Given the description of an element on the screen output the (x, y) to click on. 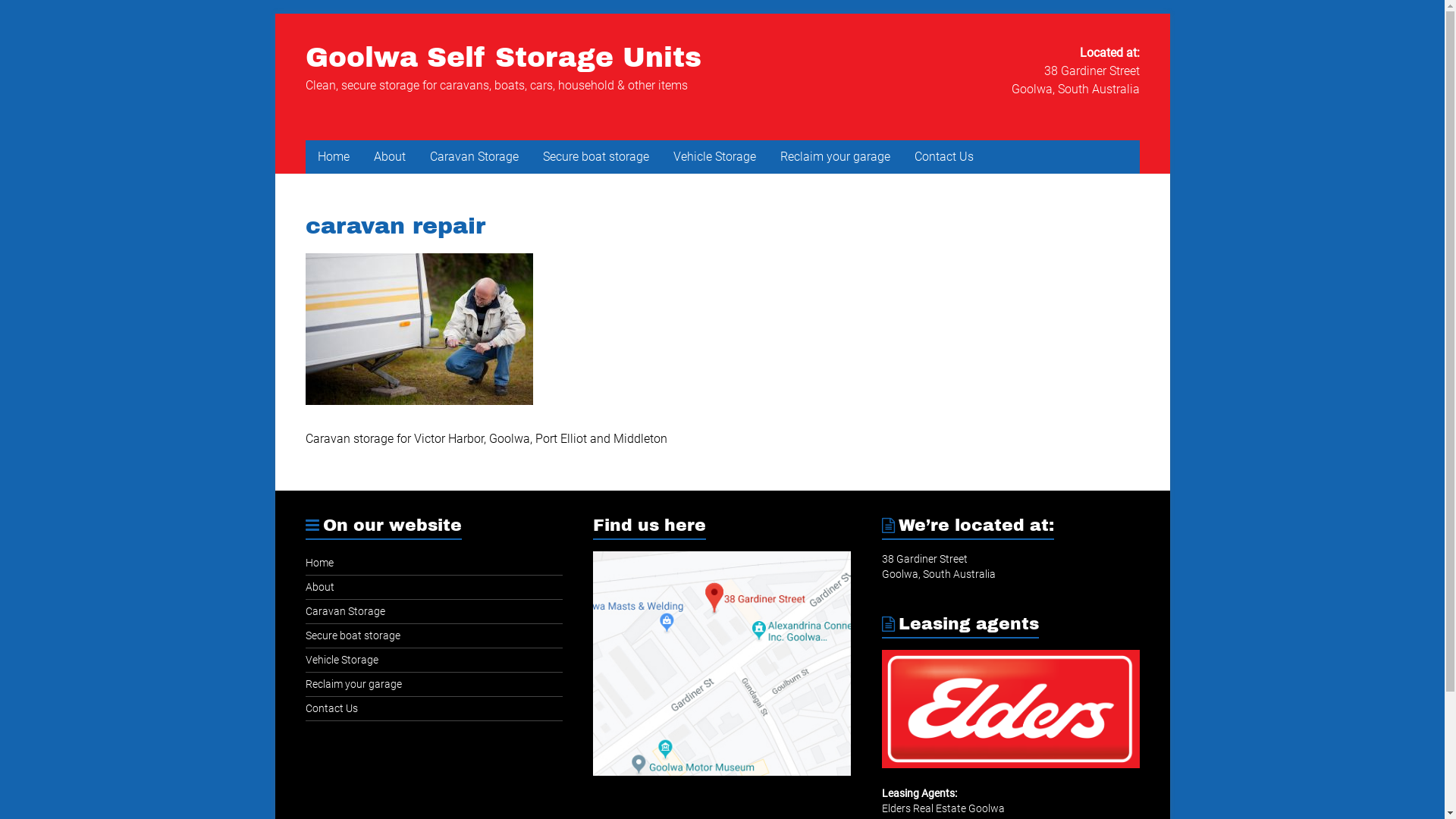
Secure boat storage Element type: text (351, 635)
Vehicle Storage Element type: text (340, 659)
Secure boat storage Element type: text (595, 156)
About Element type: text (388, 156)
Contact Us Element type: text (943, 156)
Reclaim your garage Element type: text (834, 156)
Caravan Storage Element type: text (344, 611)
Home Element type: text (318, 562)
Home Element type: text (332, 156)
Reclaim your garage Element type: text (352, 683)
About Element type: text (318, 586)
Goolwa Self Storage Units Element type: text (502, 57)
Caravan Storage Element type: text (473, 156)
Skip to content Element type: text (274, 12)
Contact Us Element type: text (330, 708)
Vehicle Storage Element type: text (714, 156)
